Given the description of an element on the screen output the (x, y) to click on. 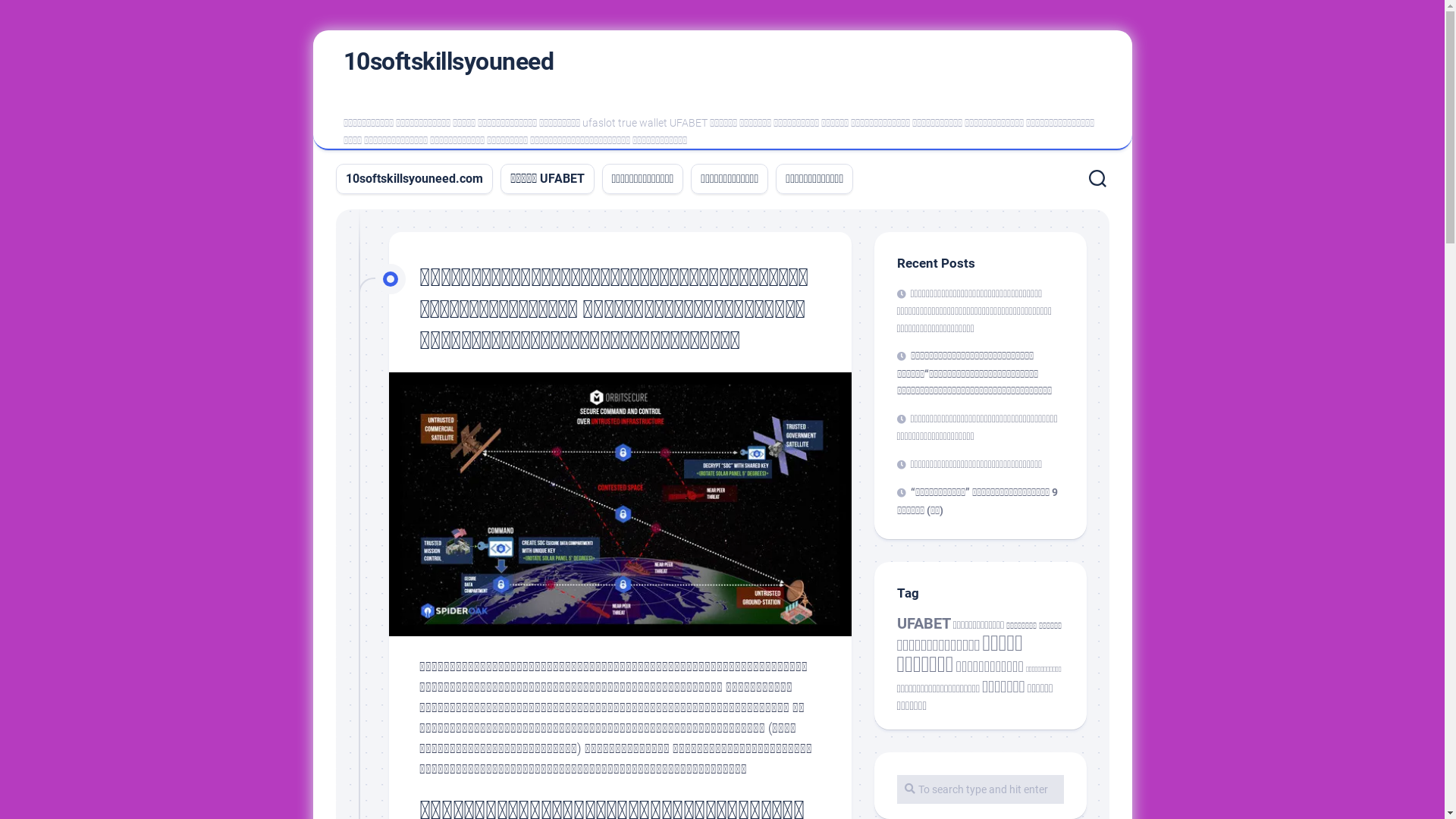
UFABET Element type: text (923, 623)
10softskillsyouneed Element type: text (447, 61)
10softskillsyouneed.com Element type: text (414, 178)
